Given the description of an element on the screen output the (x, y) to click on. 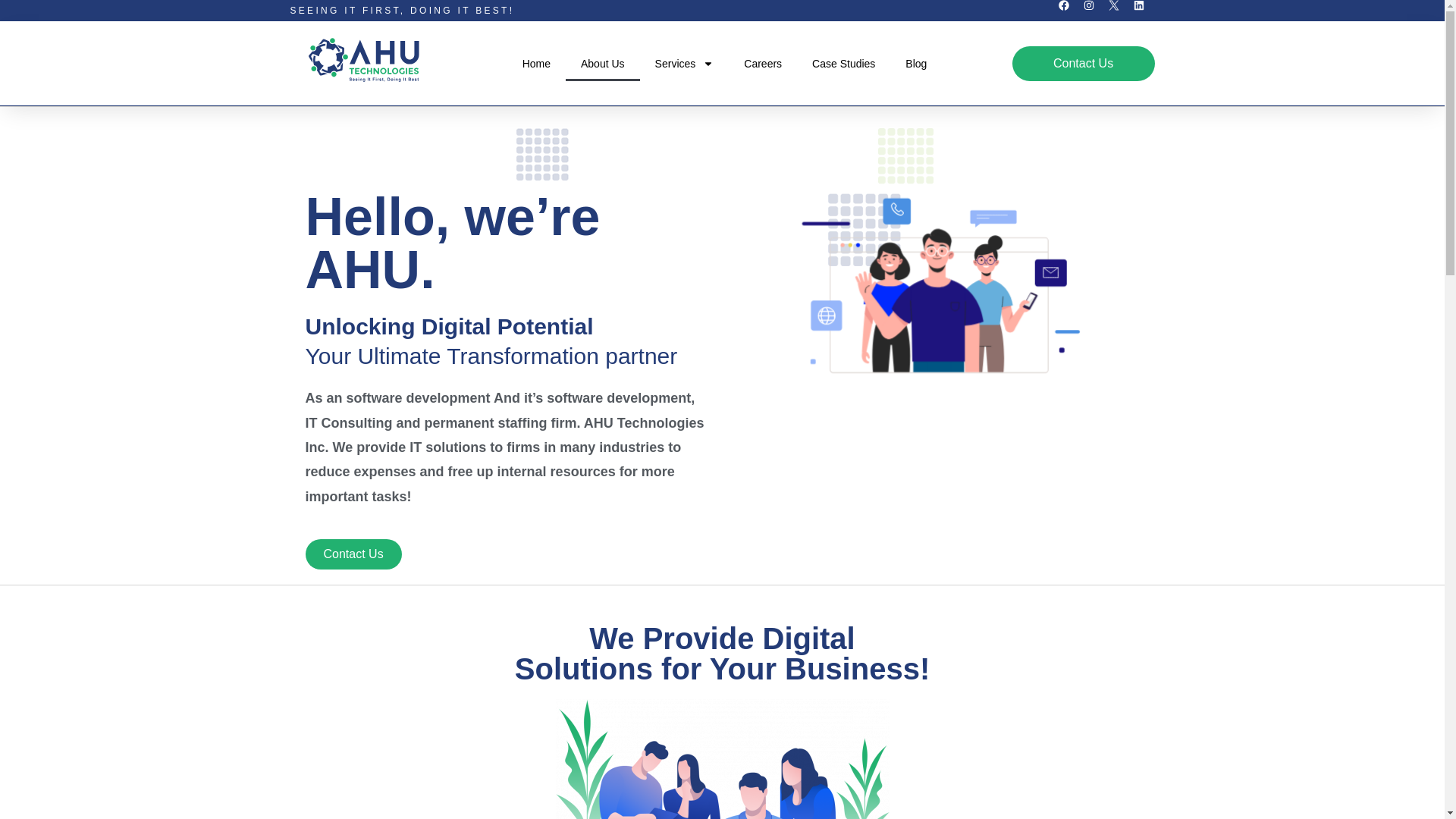
Case Studies (842, 63)
About Us (603, 63)
Contact Us (1082, 63)
OBJECTS (721, 759)
Blog (915, 63)
Services (684, 63)
Home (536, 63)
Careers (762, 63)
Contact Us (352, 553)
